Given the description of an element on the screen output the (x, y) to click on. 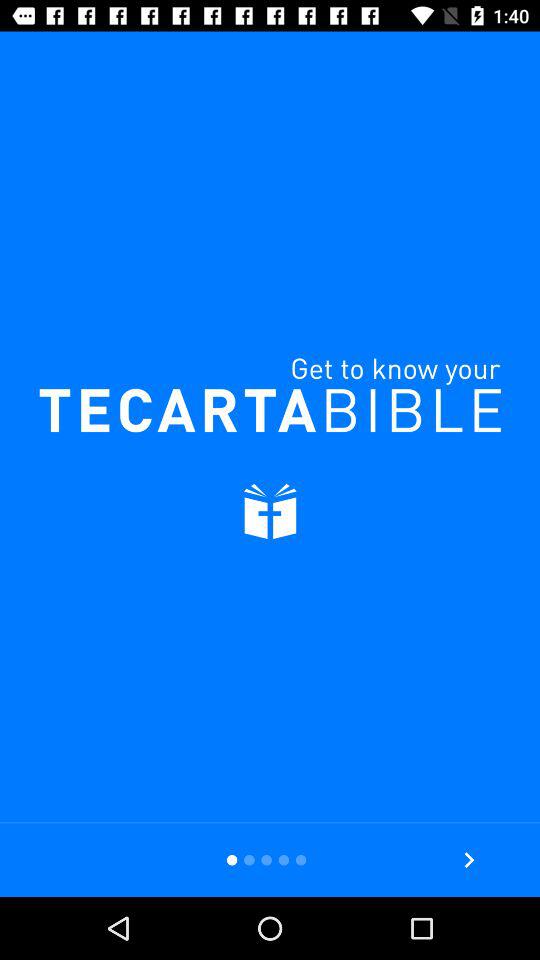
press the icon at the bottom right corner (468, 859)
